Given the description of an element on the screen output the (x, y) to click on. 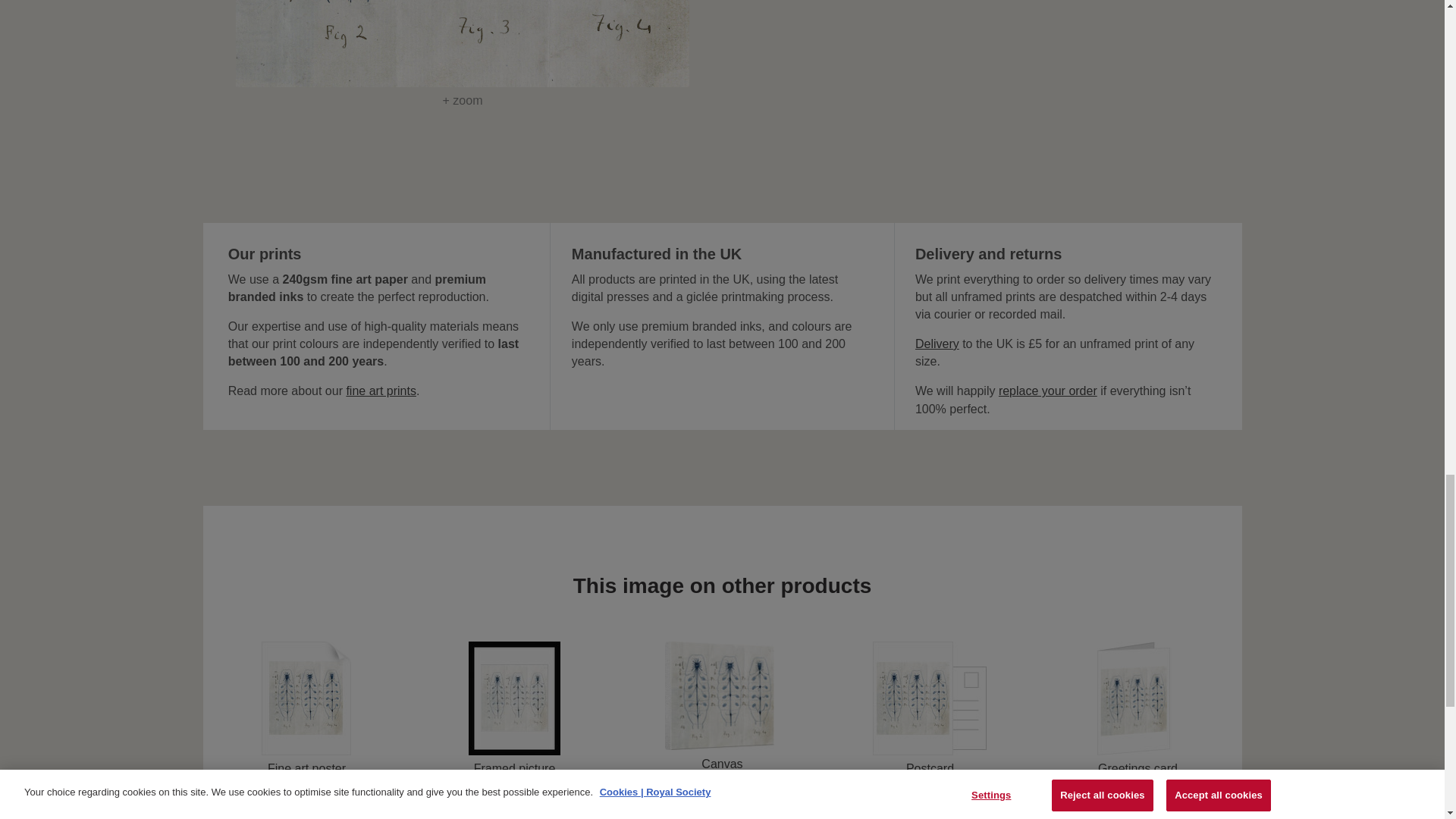
Postcard (929, 709)
Greetings card (1137, 709)
Fine art poster (306, 709)
replace your order (1047, 390)
Framed picture (514, 709)
Canvas (721, 707)
Delivery (937, 343)
fine art prints (380, 390)
